Given the description of an element on the screen output the (x, y) to click on. 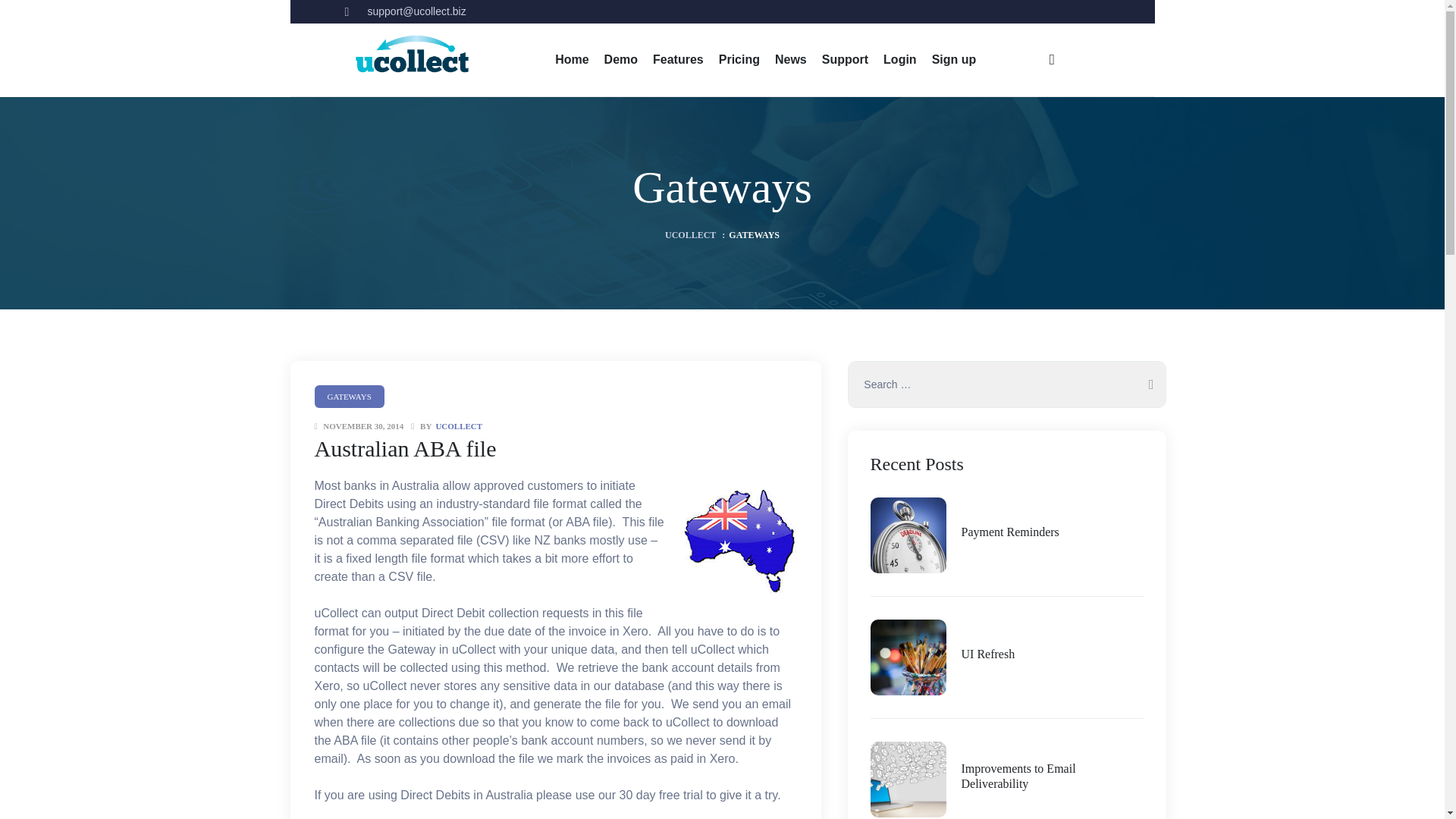
Go to Ucollect. (690, 234)
GATEWAYS (349, 396)
Australian ABA file (405, 448)
NOVEMBER 30, 2014 (363, 425)
TOP (1414, 783)
UCOLLECT (458, 425)
Improvements to Email Deliverability (1051, 777)
UI Refresh (987, 654)
Payment Reminders (1009, 532)
UCOLLECT (690, 234)
